Given the description of an element on the screen output the (x, y) to click on. 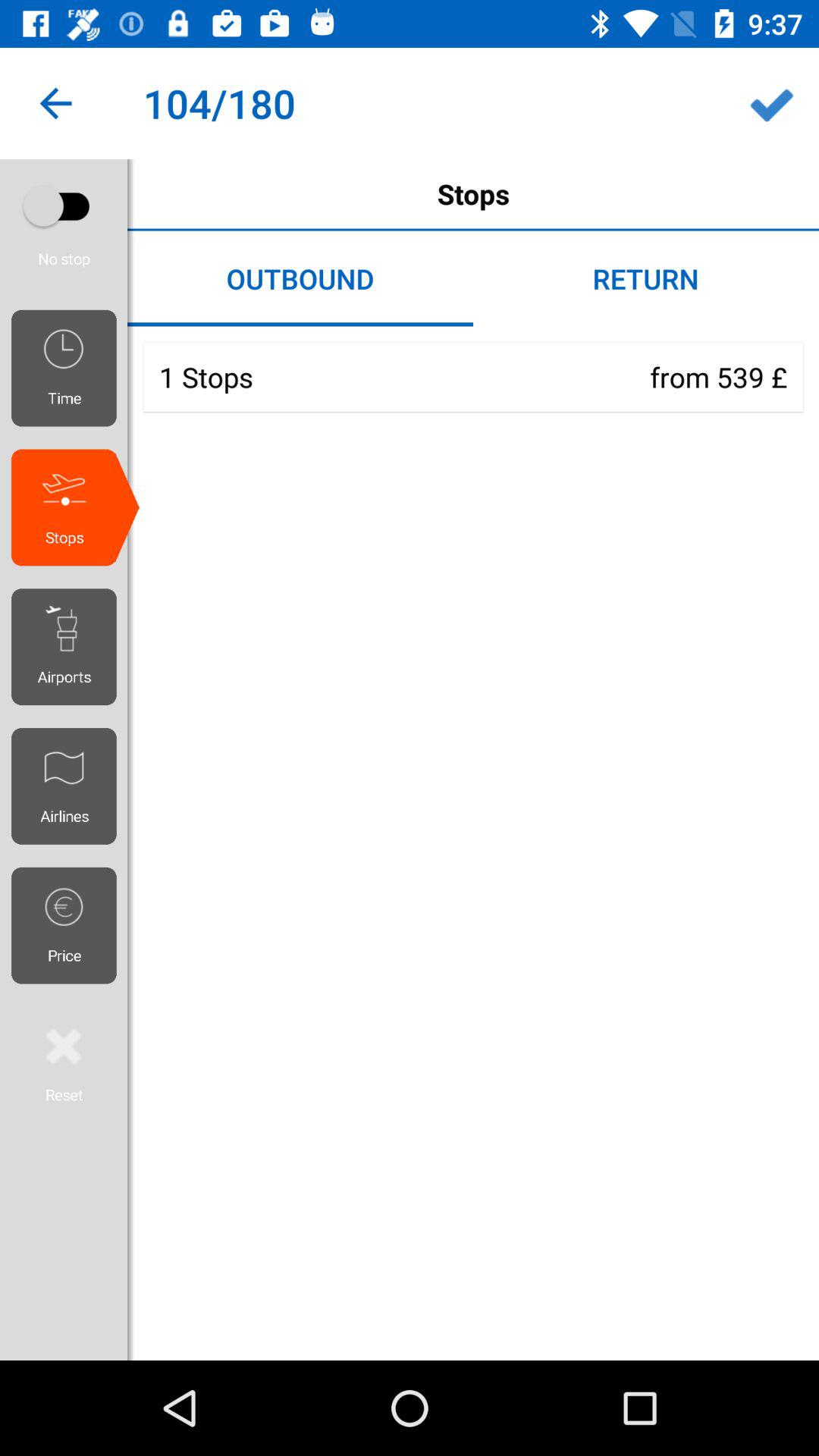
turn off the item above the price item (69, 785)
